Given the description of an element on the screen output the (x, y) to click on. 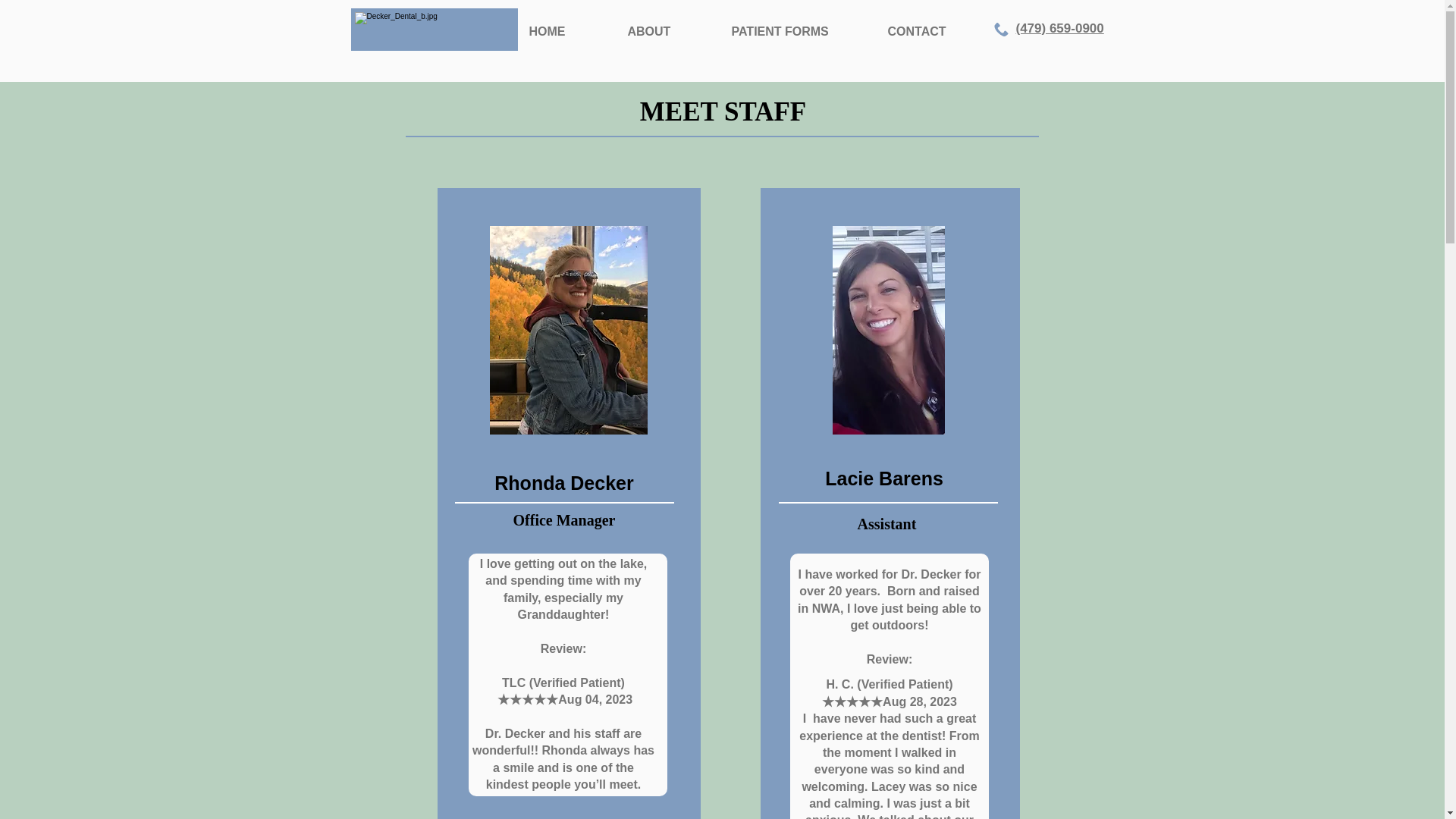
CONTACT (935, 31)
PATIENT FORMS (798, 31)
HOME (565, 31)
